Given the description of an element on the screen output the (x, y) to click on. 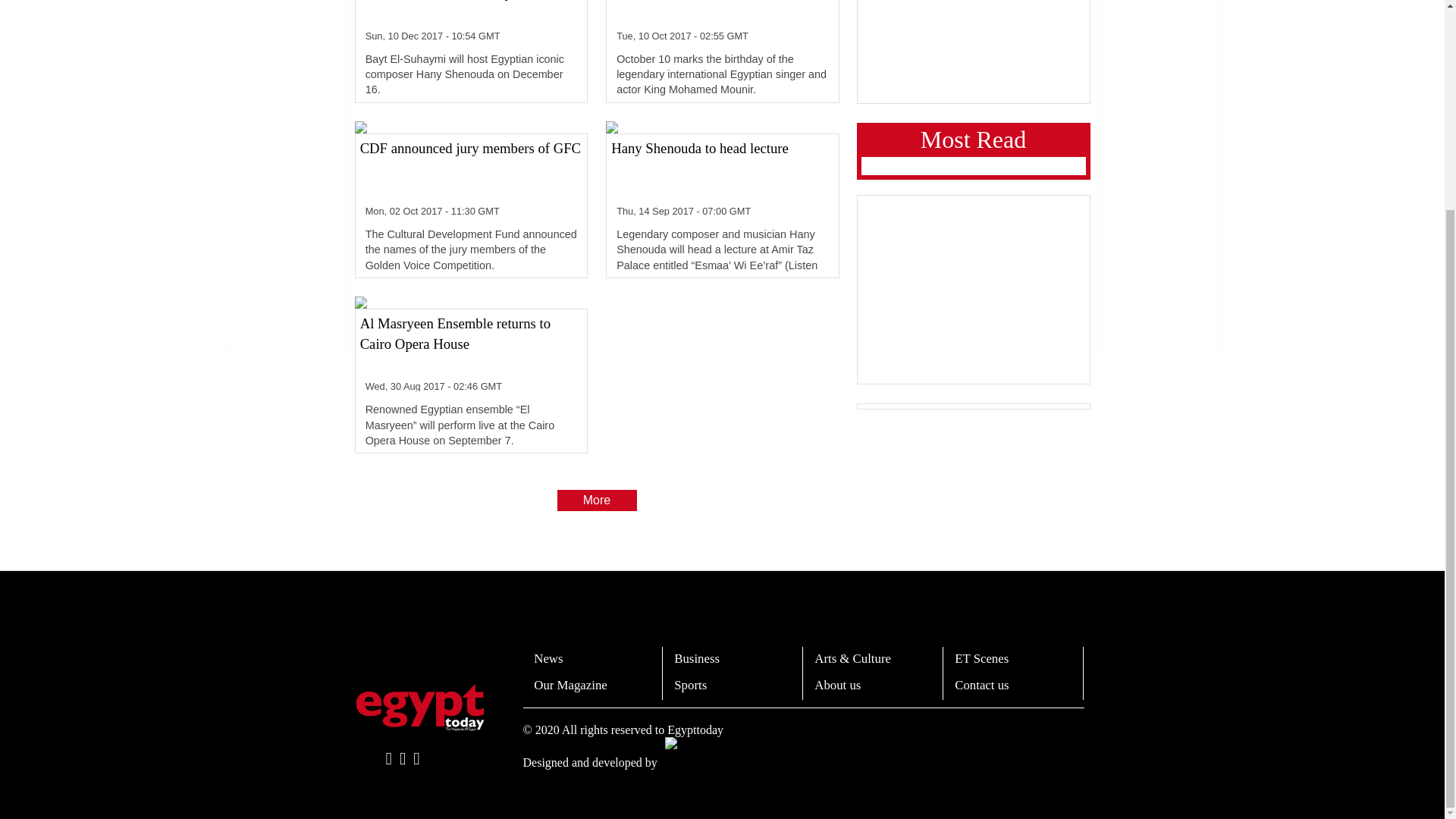
EgyptToday (419, 707)
News (548, 658)
Al Masryeen Ensemble returns to Cairo Opera House (470, 343)
Hany Shenouda to head lecture (721, 168)
CDF announced jury members of GFC (470, 168)
King Mohamed Mounir turns 63 (721, 12)
ET Scenes (982, 658)
Shenouda to celebrate Al-Masryeen ensemble 40th anniversary (470, 12)
Business (696, 658)
